Given the description of an element on the screen output the (x, y) to click on. 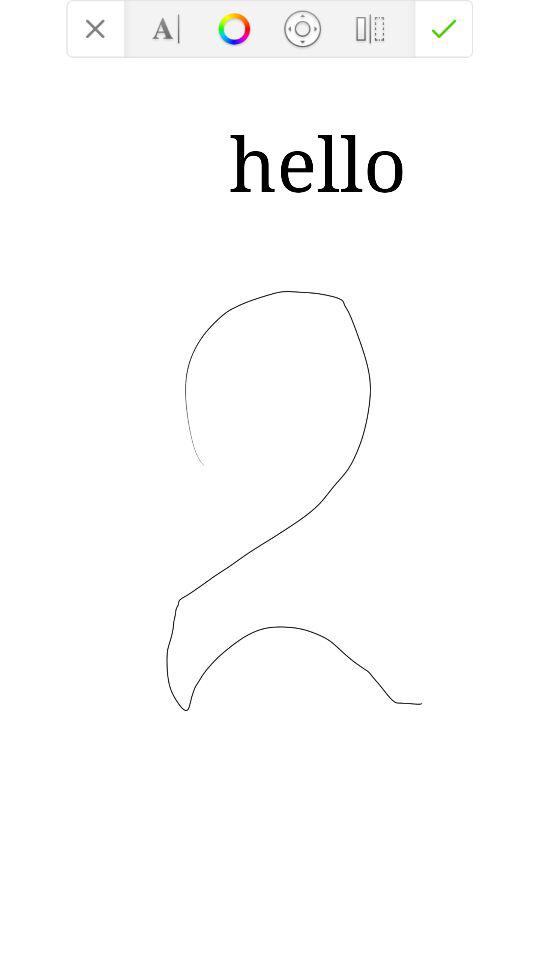
select entire screen or selection on screen (370, 28)
